Given the description of an element on the screen output the (x, y) to click on. 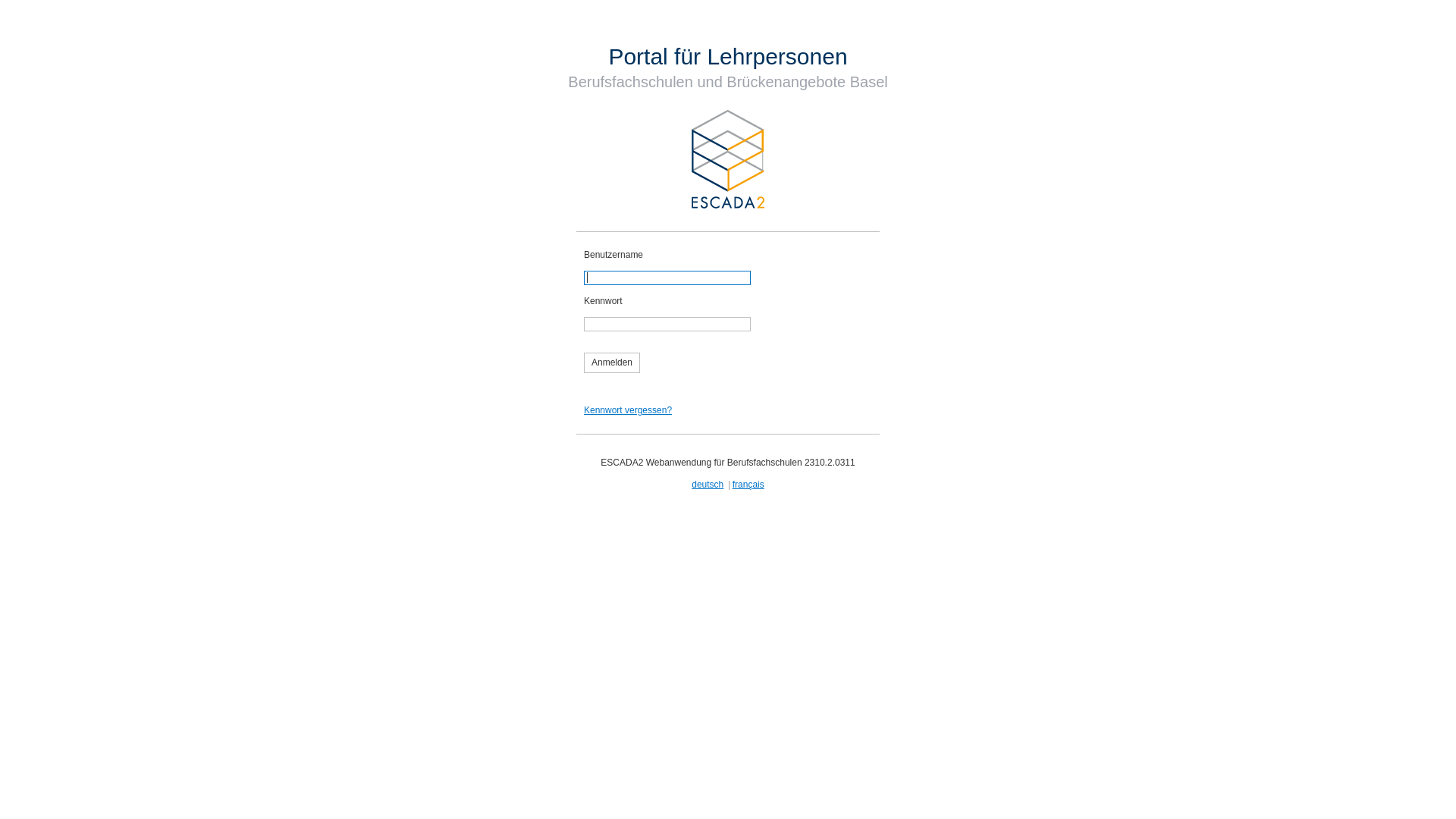
deutsch Element type: text (707, 484)
Kennwort vergessen? Element type: text (627, 409)
